Given the description of an element on the screen output the (x, y) to click on. 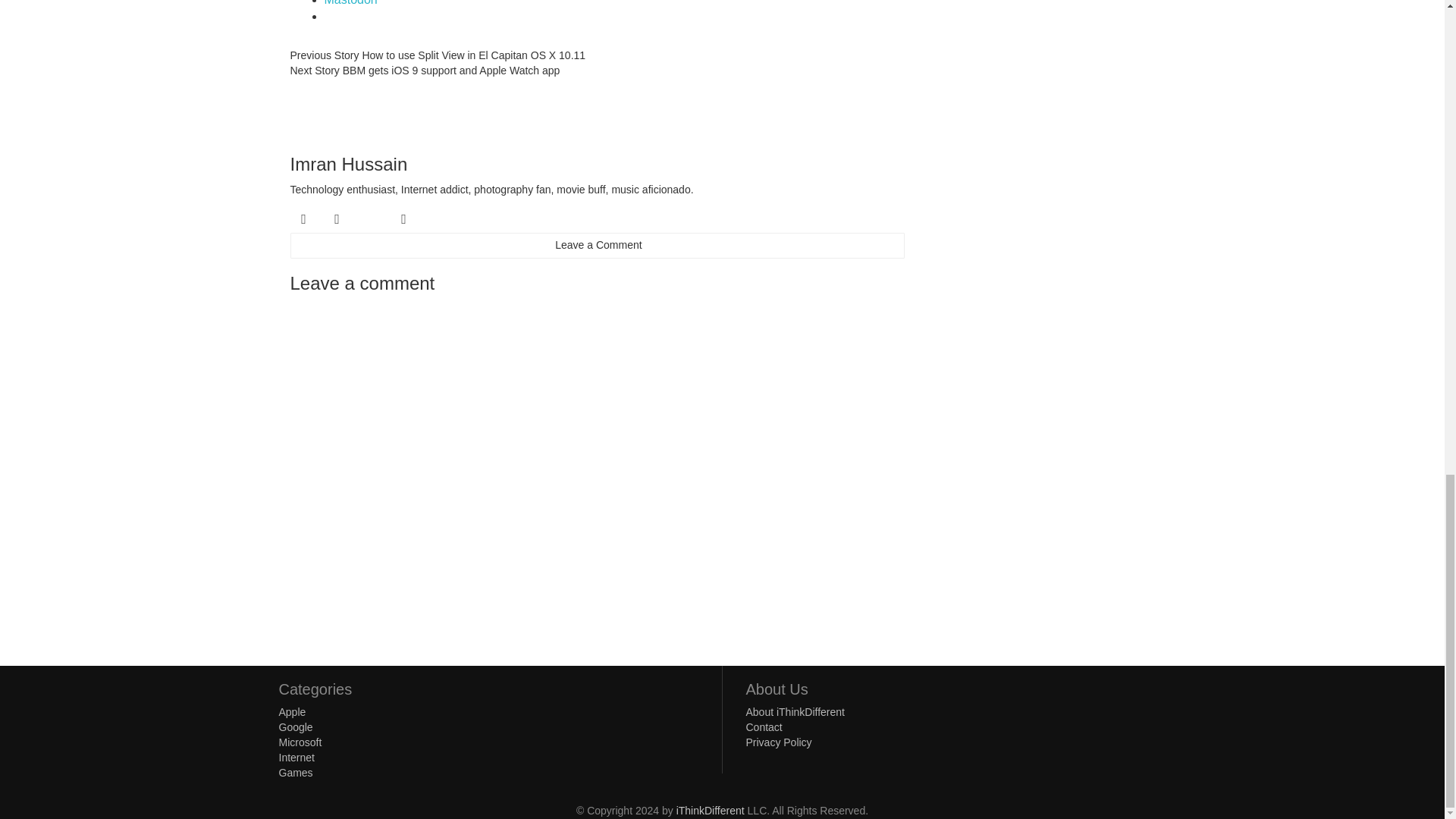
Imran Hussain (348, 163)
Click to share on Mastodon (350, 2)
Imran Hussain (319, 108)
Follow me on Twitter (303, 218)
